Given the description of an element on the screen output the (x, y) to click on. 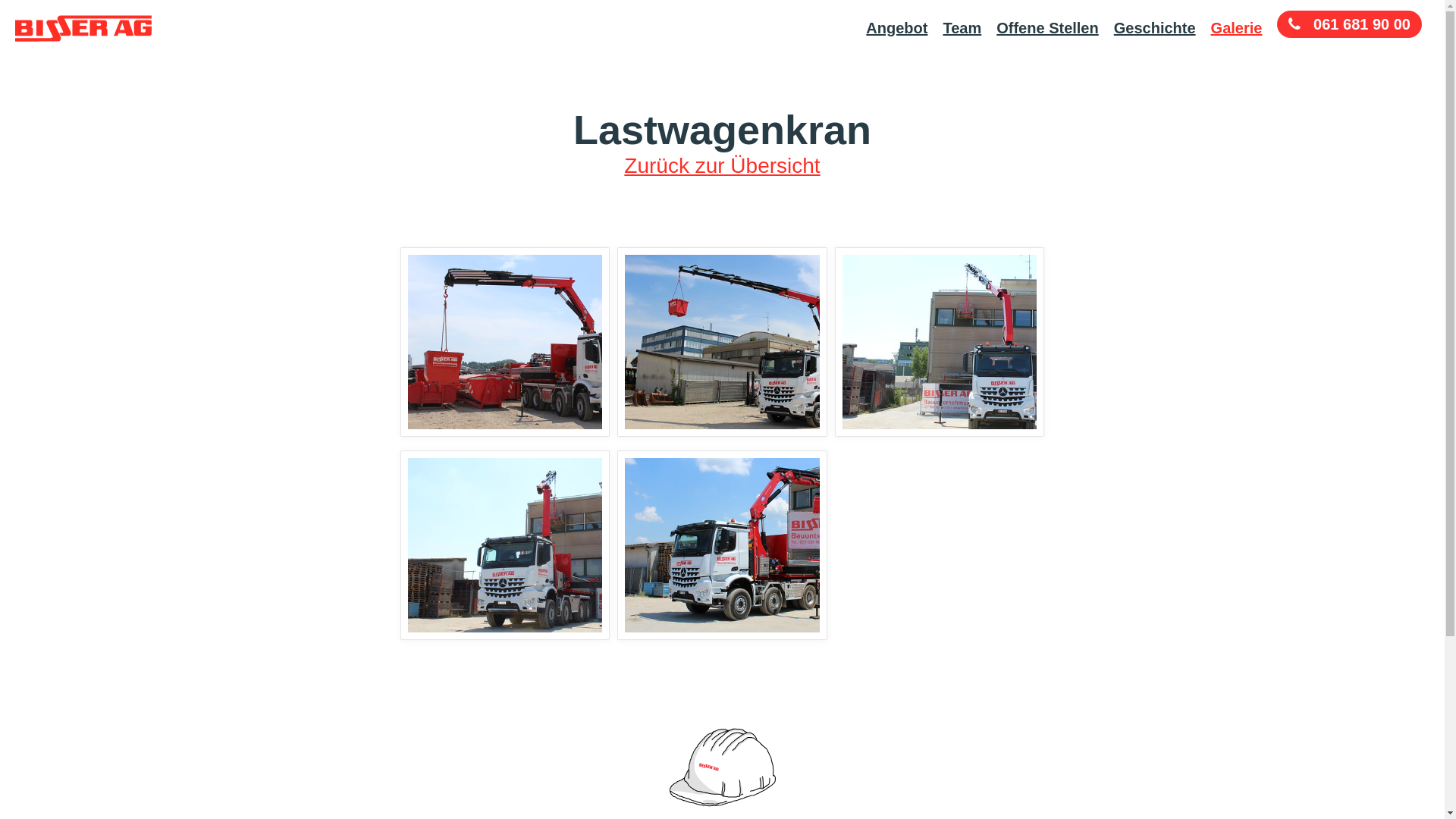
Angebot Element type: text (902, 27)
Team Element type: text (967, 27)
  061 681 90 00 Element type: text (1349, 23)
Offene Stellen Element type: text (1052, 27)
Galerie Element type: text (1242, 27)
Geschichte Element type: text (1160, 27)
